Given the description of an element on the screen output the (x, y) to click on. 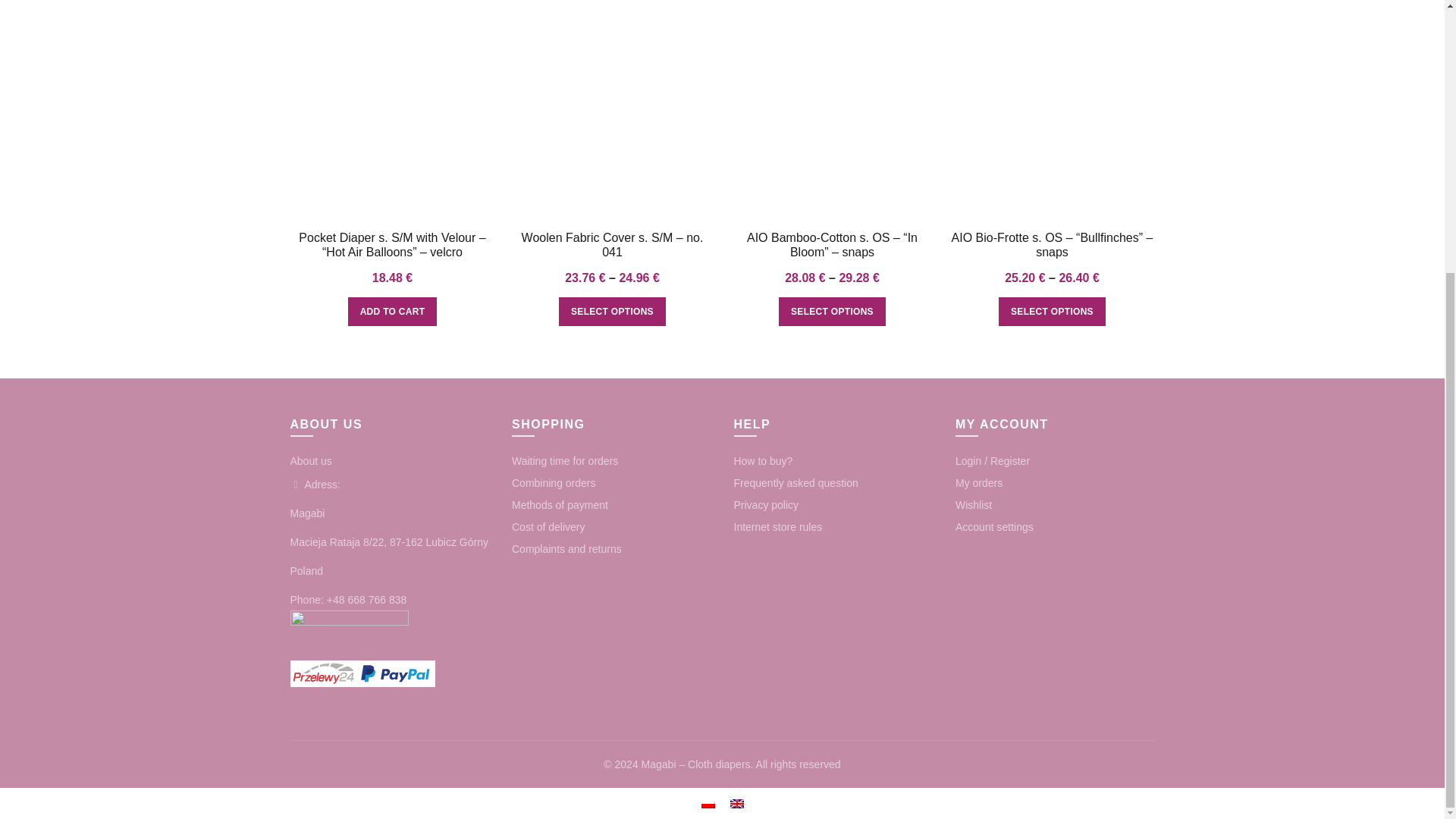
- (741, 117)
1 (763, 117)
